Given the description of an element on the screen output the (x, y) to click on. 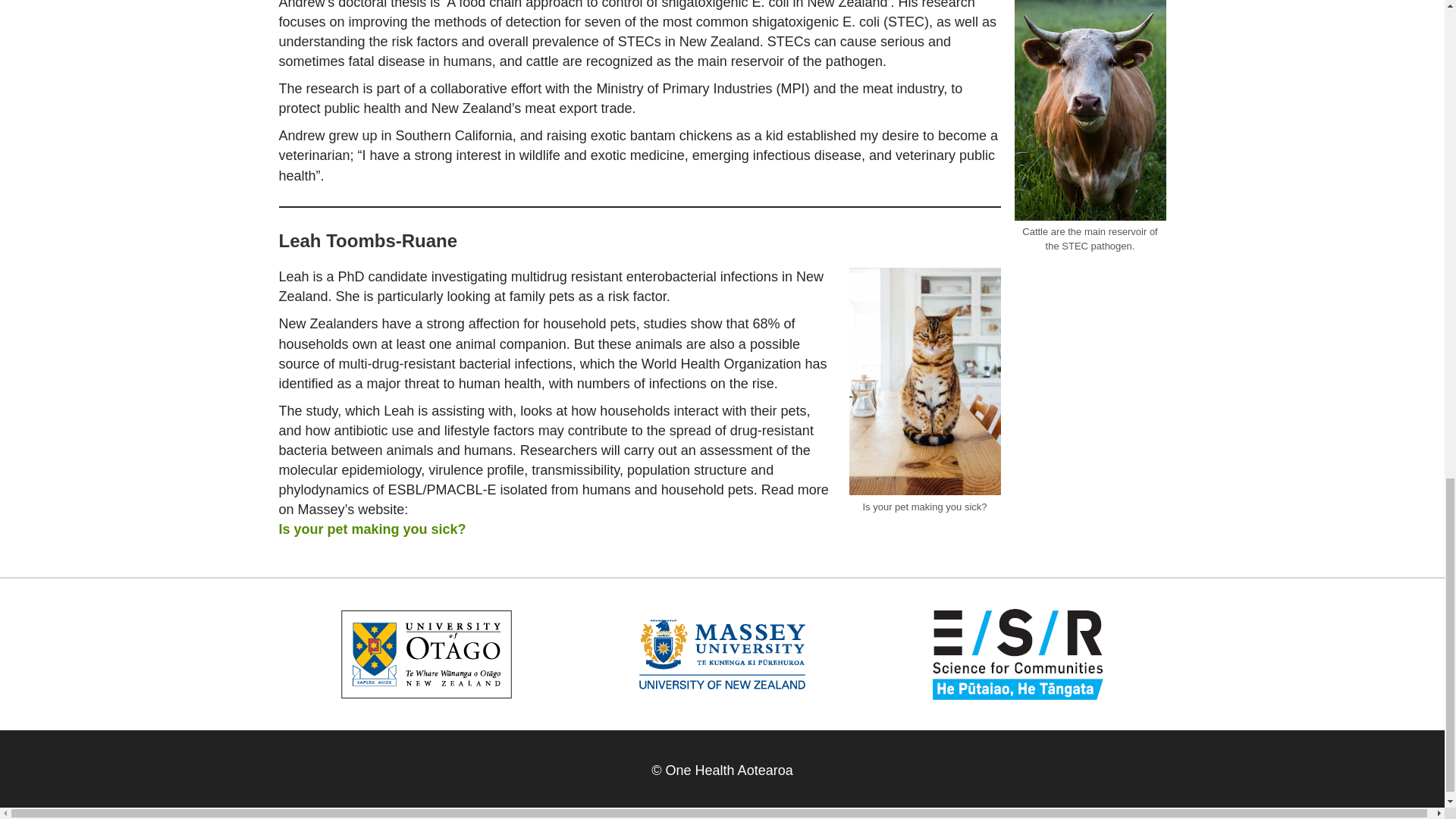
Is your pet making you sick? (372, 529)
uo-logo.png (426, 654)
massey-logo.png (722, 654)
